Given the description of an element on the screen output the (x, y) to click on. 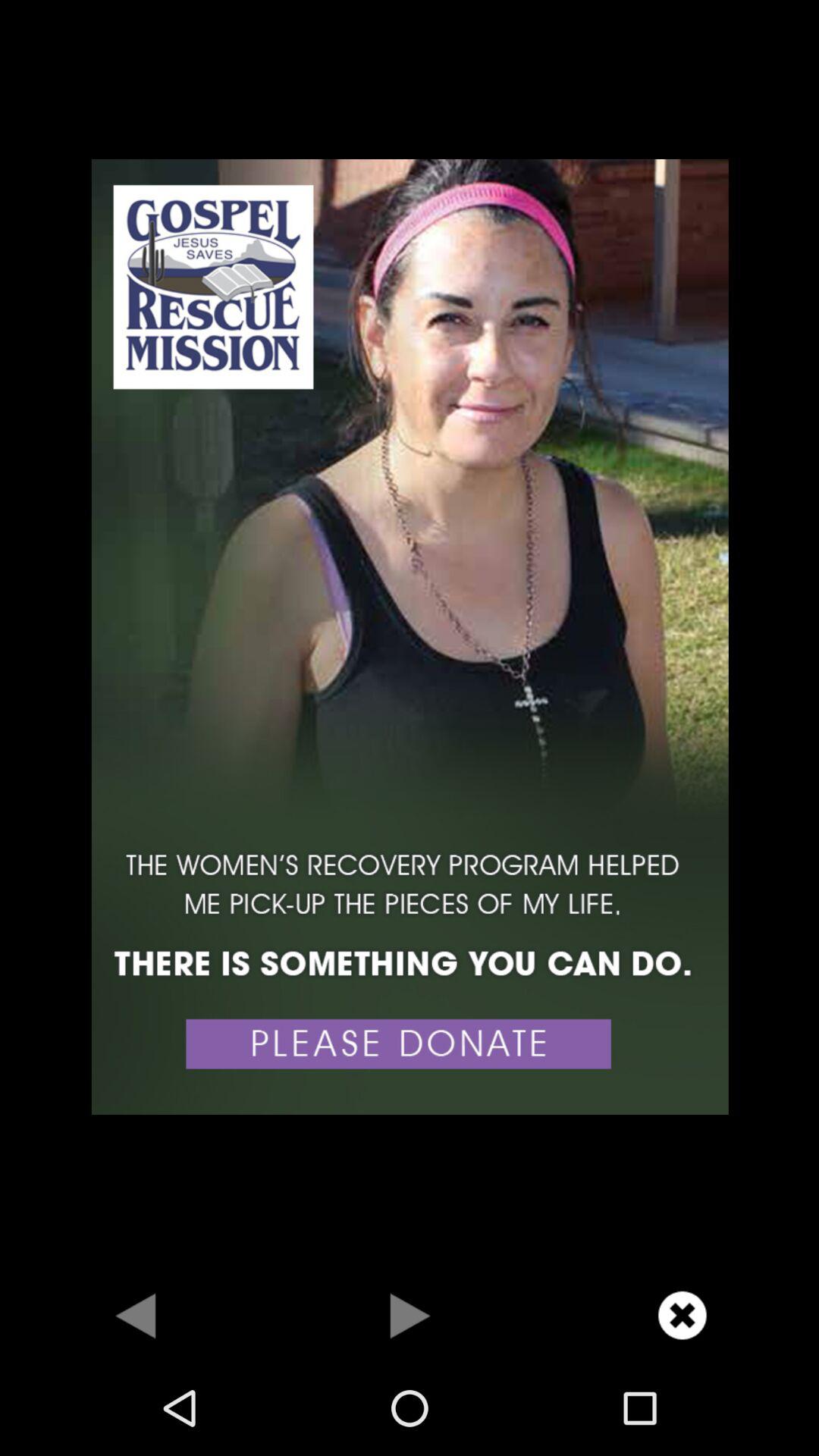
go back (136, 1315)
